Given the description of an element on the screen output the (x, y) to click on. 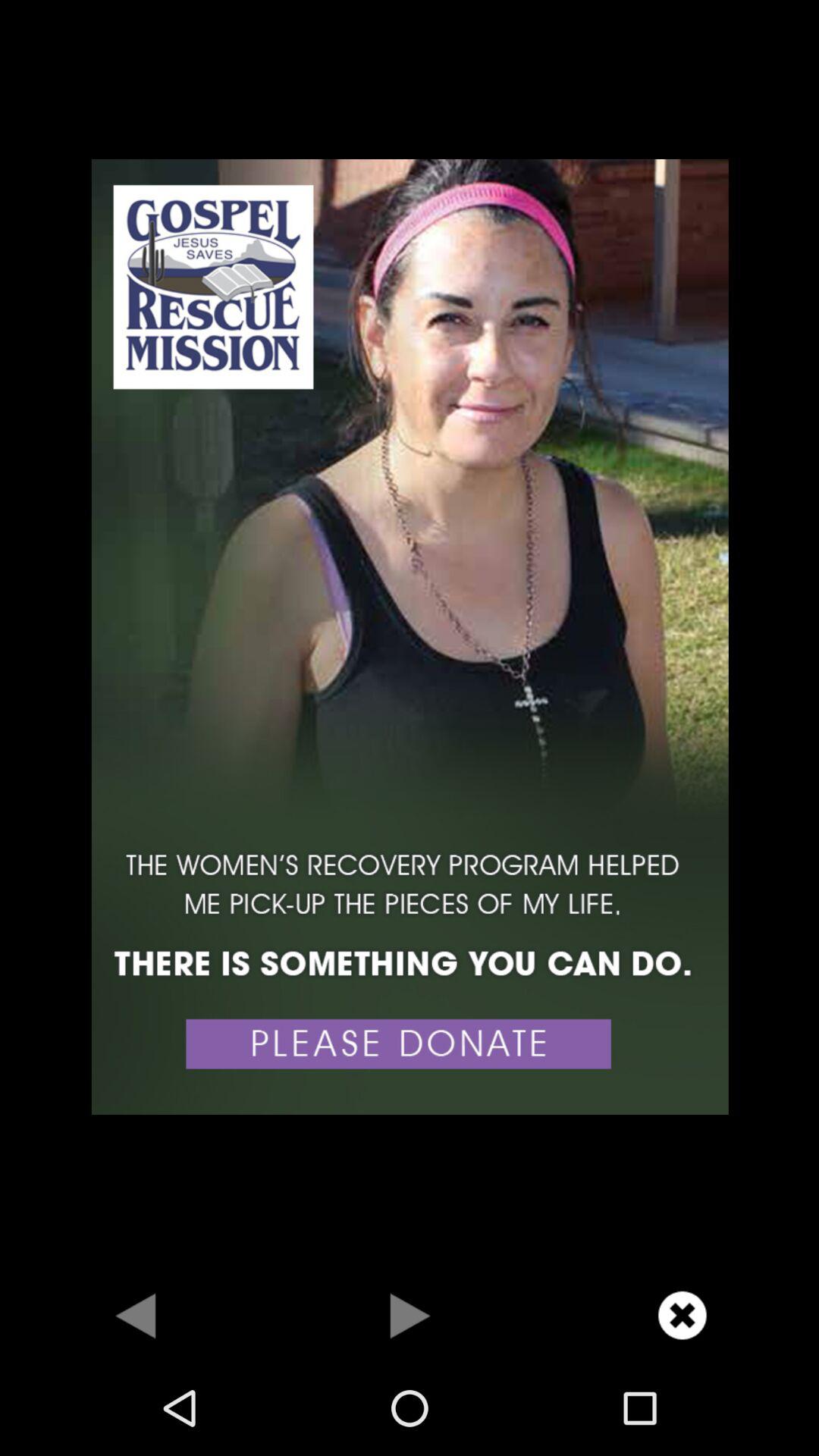
go back (136, 1315)
